Given the description of an element on the screen output the (x, y) to click on. 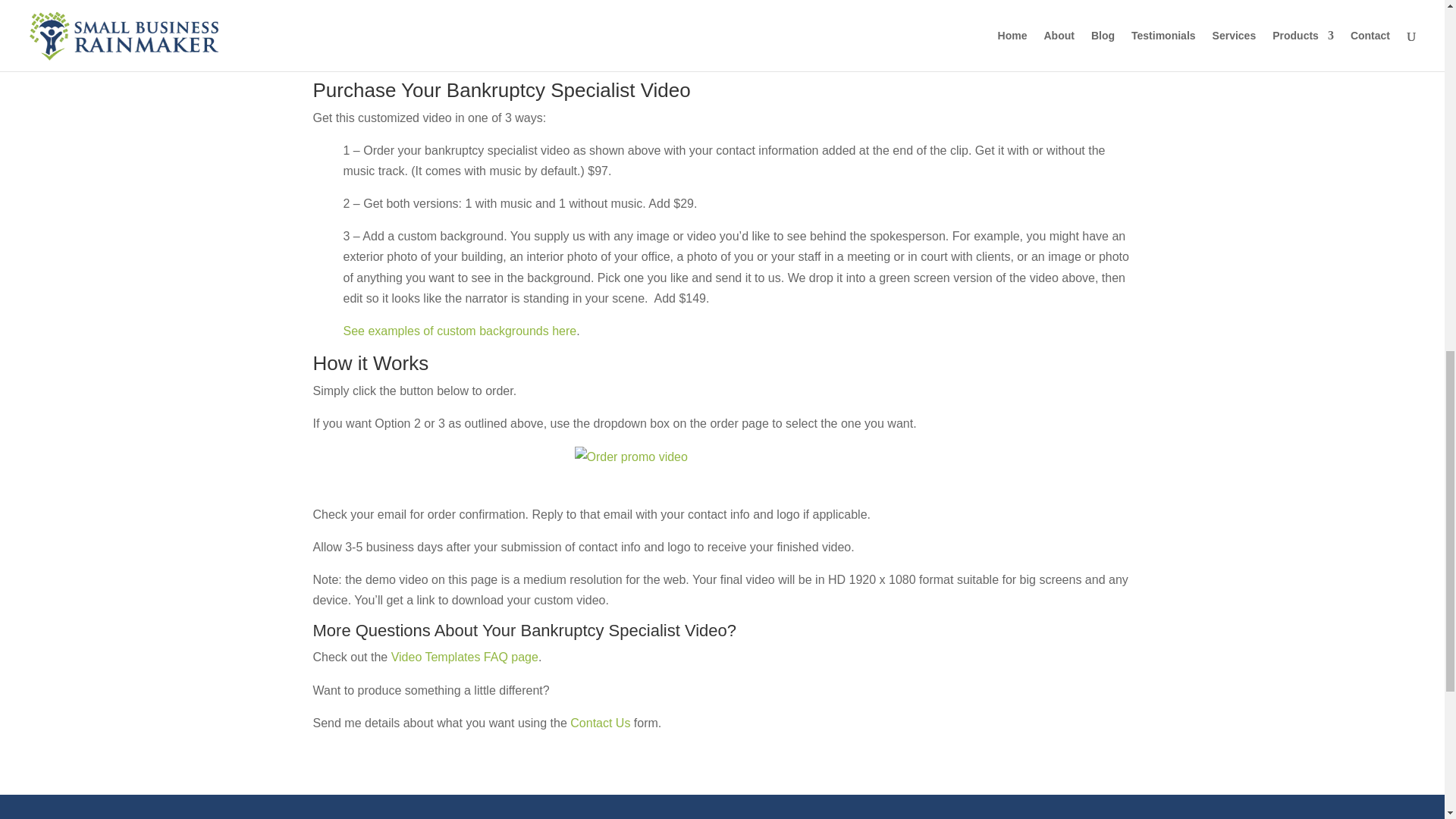
See examples of custom backgrounds here (459, 330)
Contact Us (600, 722)
Video Templates FAQ page (464, 656)
